Given the description of an element on the screen output the (x, y) to click on. 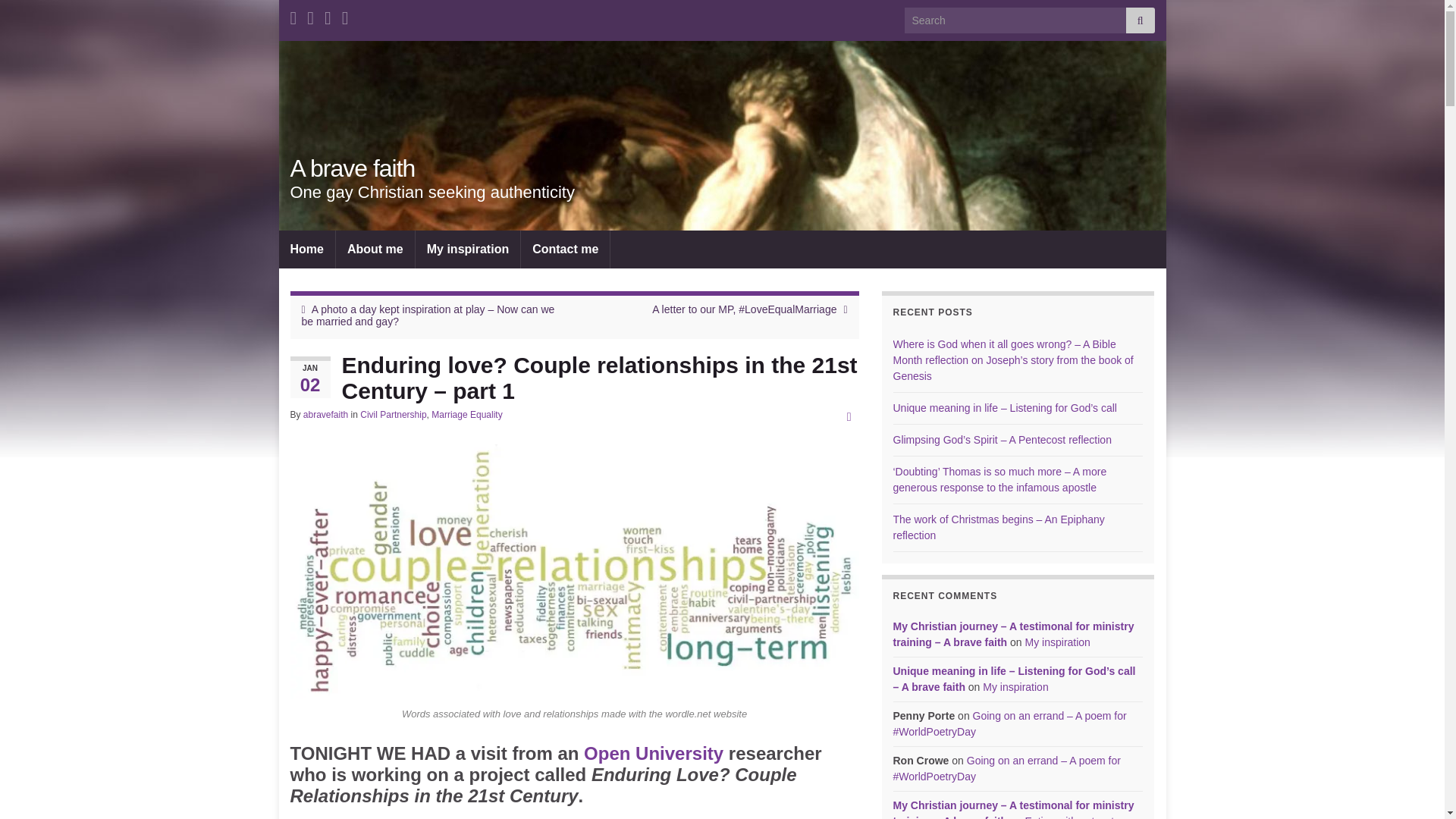
Print this post (849, 416)
Follow A brave faith's Twitter profile (345, 15)
Go back to the front page (351, 167)
Open University (653, 752)
My inspiration (466, 249)
Home (306, 249)
Open University (653, 752)
Contact me (565, 249)
abravefaith (324, 414)
About me (375, 249)
Subscribe to A brave faith's RSS Feed (293, 15)
Marriage Equality (466, 414)
Follow A brave faith's Instagram profile (327, 15)
Civil Partnership (392, 414)
